Given the description of an element on the screen output the (x, y) to click on. 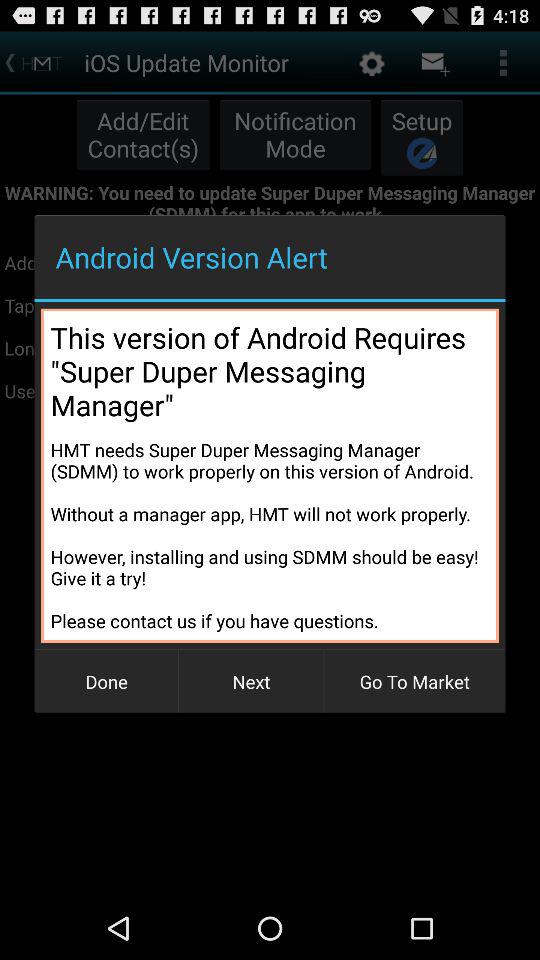
choose the icon below the hmt needs super icon (251, 681)
